Given the description of an element on the screen output the (x, y) to click on. 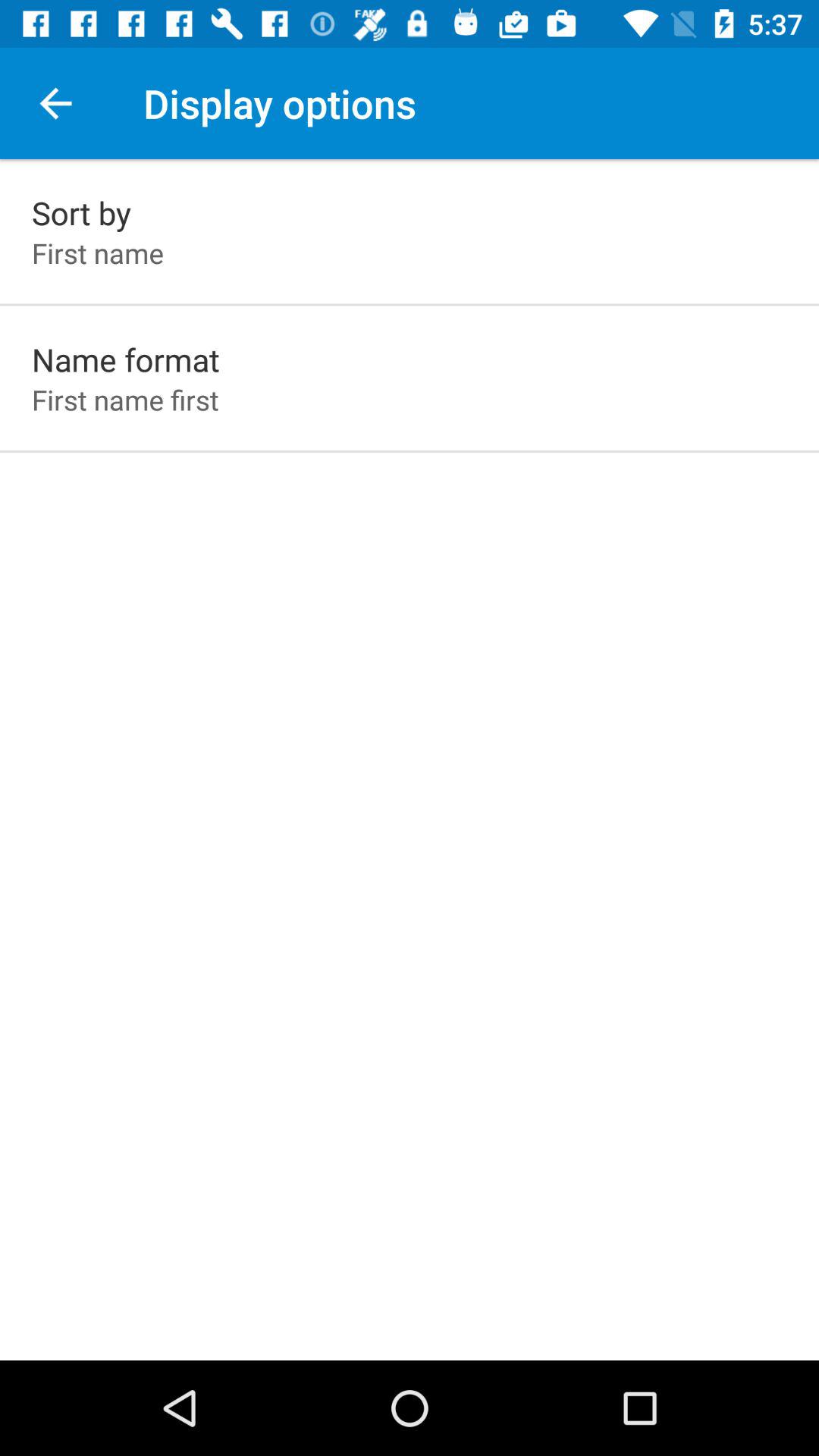
select sort by item (81, 212)
